Given the description of an element on the screen output the (x, y) to click on. 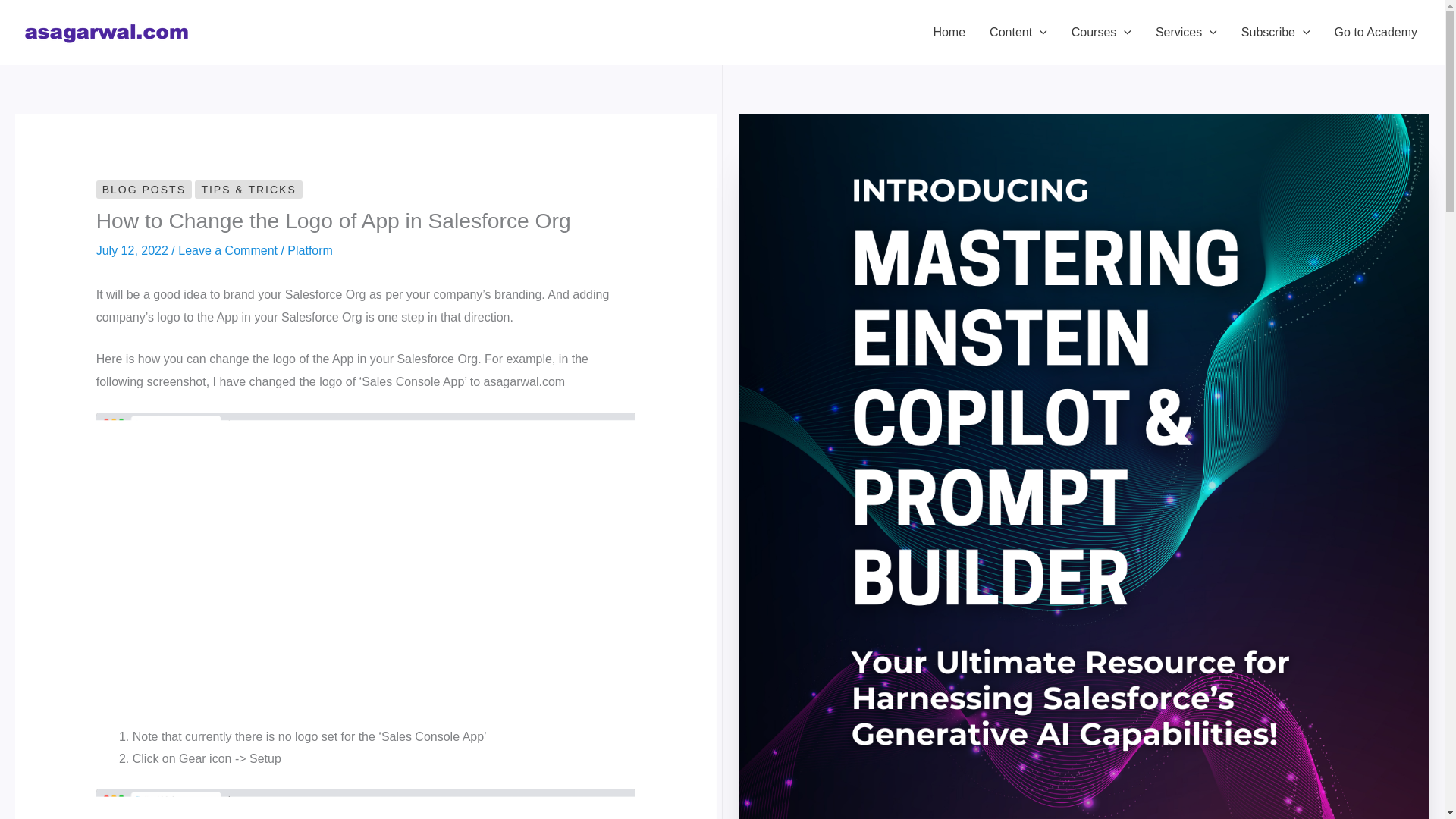
Go to Academy (1375, 31)
Home (948, 31)
Subscribe (1275, 31)
Services (1185, 31)
Courses (1100, 31)
Content (1017, 31)
